Given the description of an element on the screen output the (x, y) to click on. 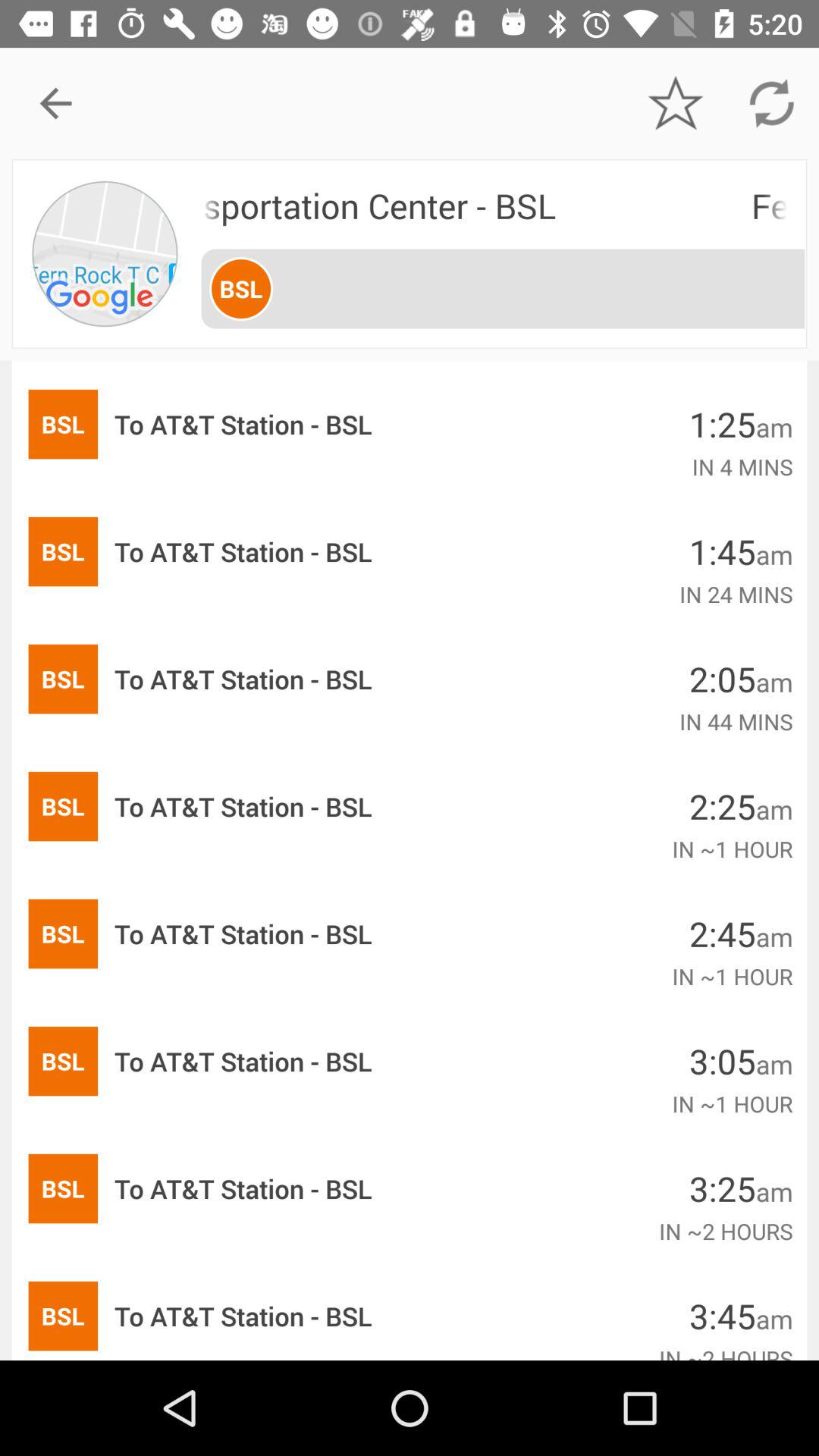
press icon above fern rock transportation icon (675, 103)
